Given the description of an element on the screen output the (x, y) to click on. 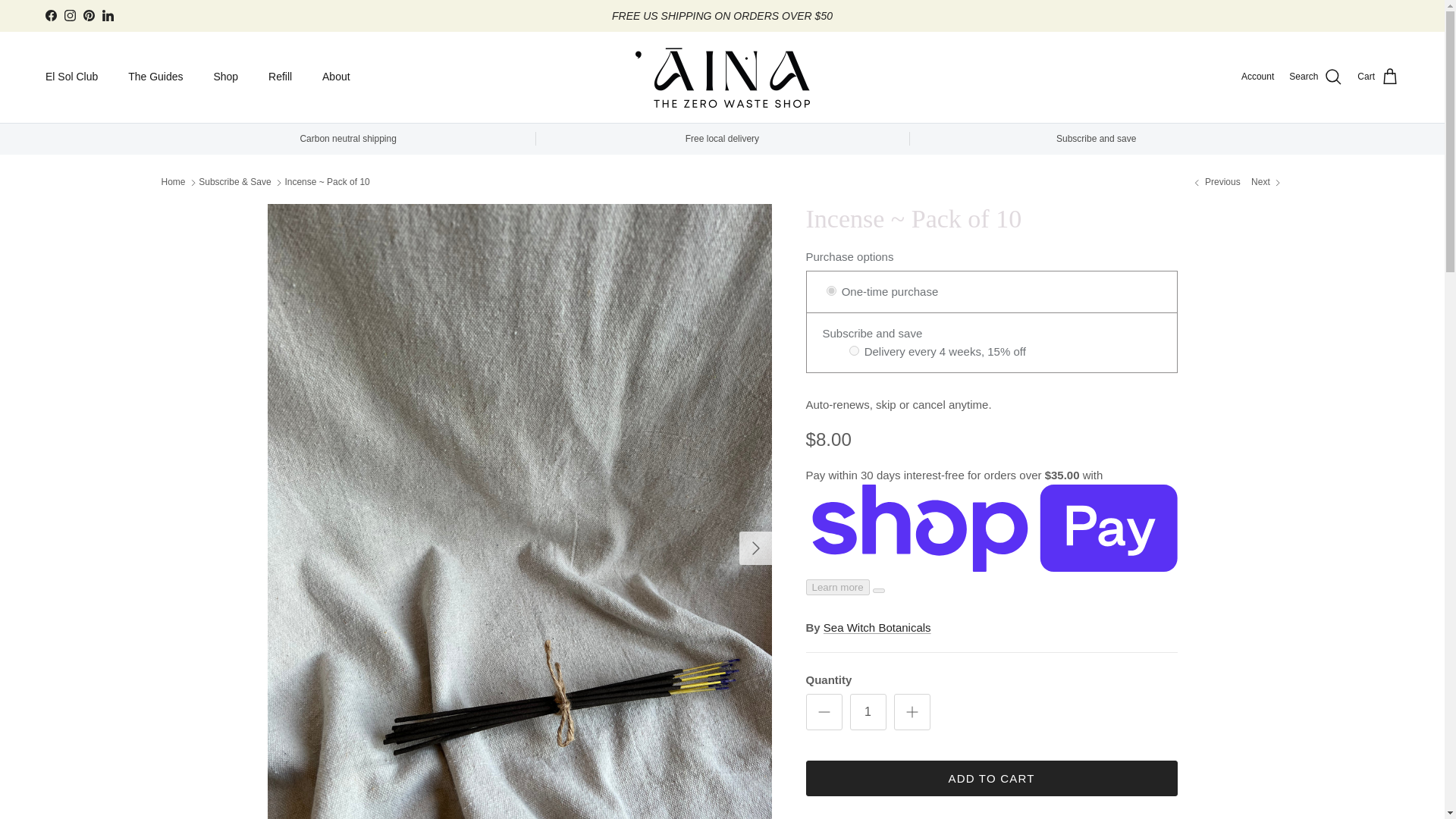
on (853, 350)
Shop (225, 76)
El Sol Club (72, 76)
Account (1257, 76)
1 (866, 711)
The Guides (155, 76)
Pinterest (88, 15)
Facebook (50, 15)
Refill (279, 76)
Instagram (69, 15)
